Given the description of an element on the screen output the (x, y) to click on. 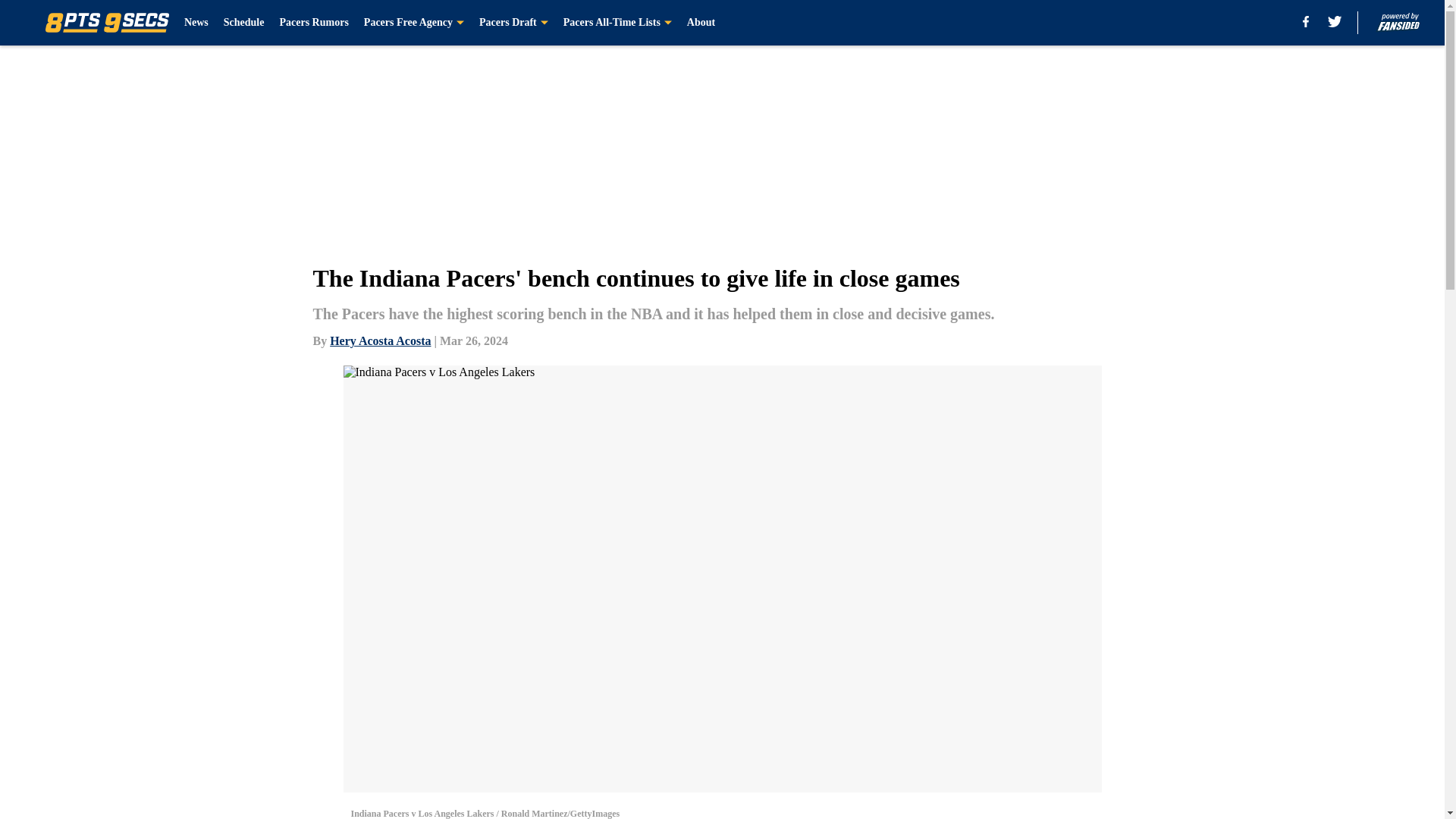
Schedule (244, 22)
News (196, 22)
Pacers Rumors (313, 22)
Hery Acosta Acosta (380, 340)
About (700, 22)
